Given the description of an element on the screen output the (x, y) to click on. 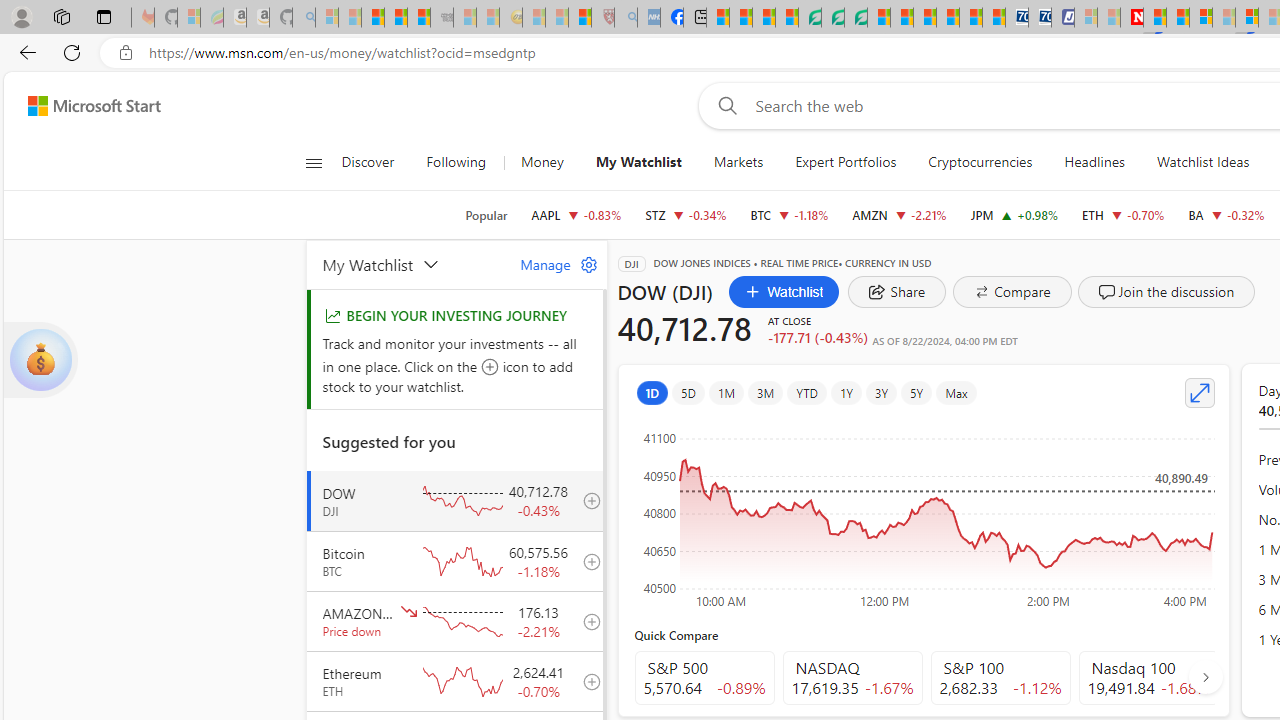
World - MSN (763, 17)
Money (541, 162)
1D (652, 392)
5D (687, 392)
3M (765, 392)
LendingTree - Compare Lenders (809, 17)
Cheap Car Rentals - Save70.com (1016, 17)
Class: button-glyph (313, 162)
